Given the description of an element on the screen output the (x, y) to click on. 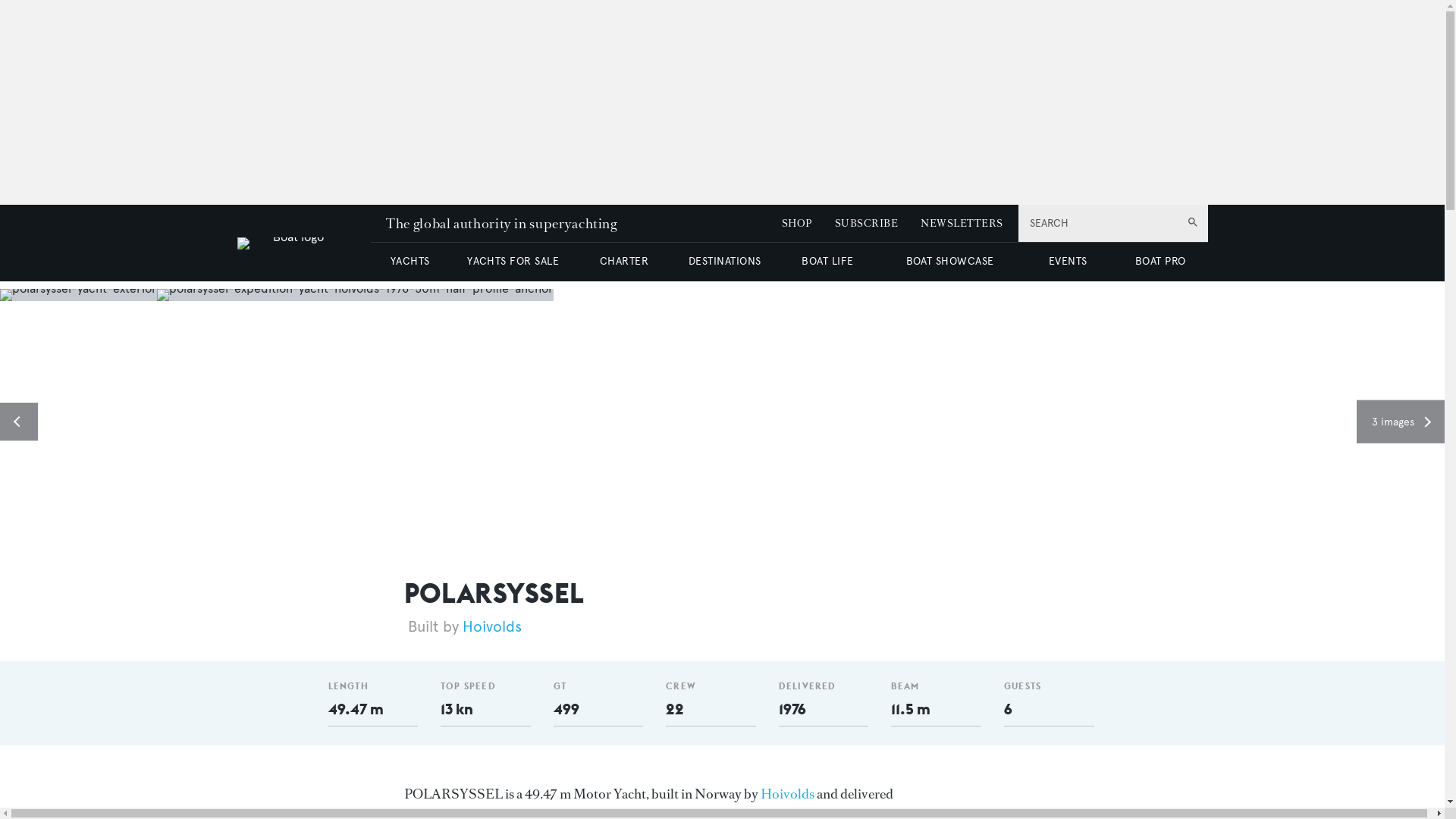
YACHTS (410, 261)
NEWSLETTERS (961, 223)
YACHTS FOR SALE (512, 261)
DESTINATIONS (724, 261)
CHARTER (623, 261)
SUBSCRIBE (866, 223)
SHOP (796, 223)
